Given the description of an element on the screen output the (x, y) to click on. 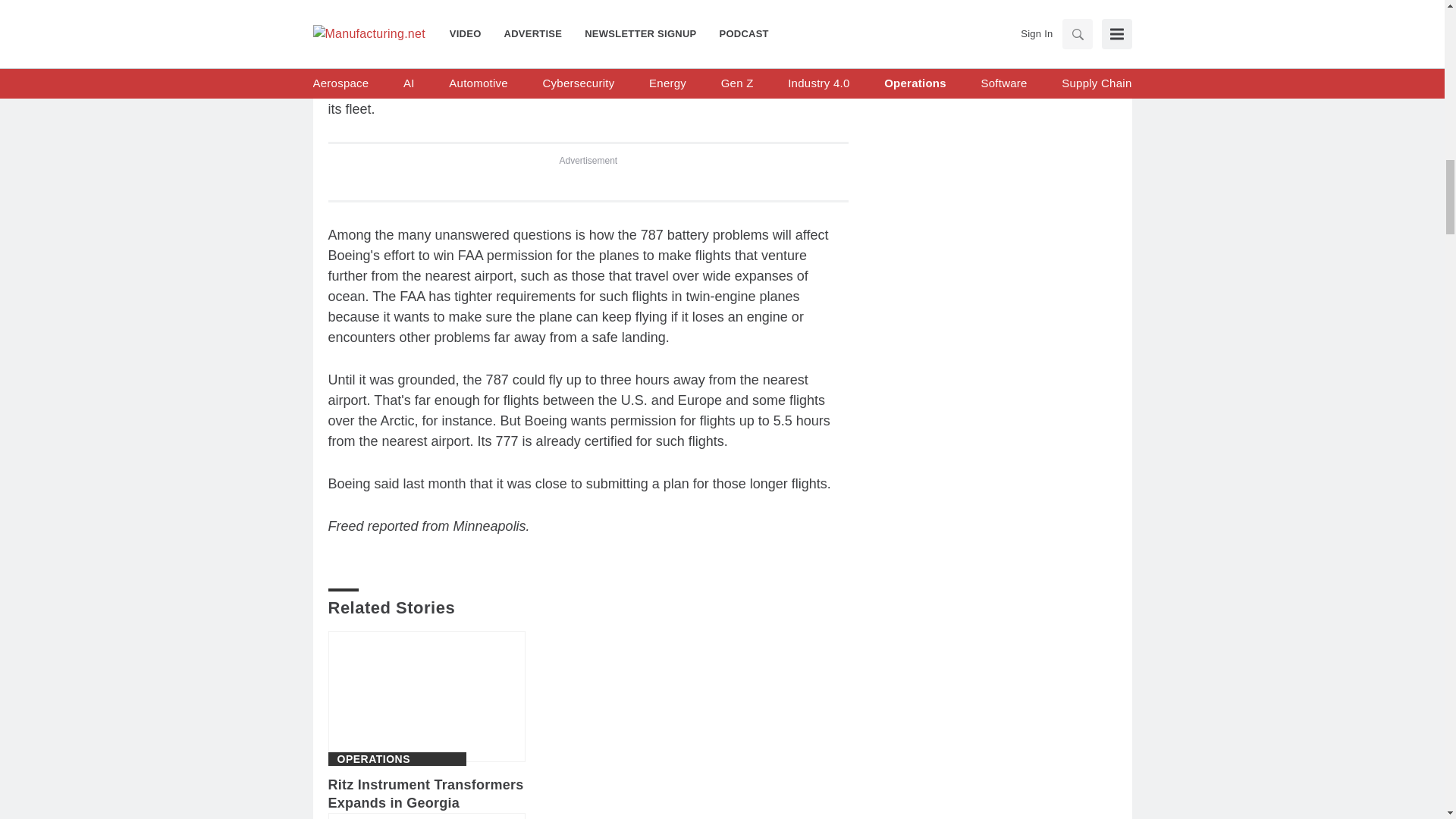
Operations (373, 758)
